Given the description of an element on the screen output the (x, y) to click on. 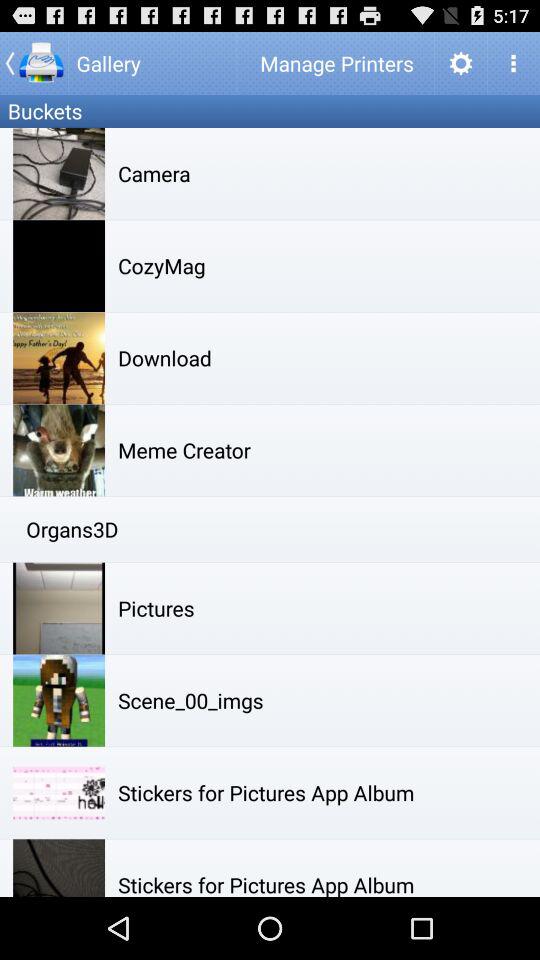
tap item above buckets (34, 62)
